Given the description of an element on the screen output the (x, y) to click on. 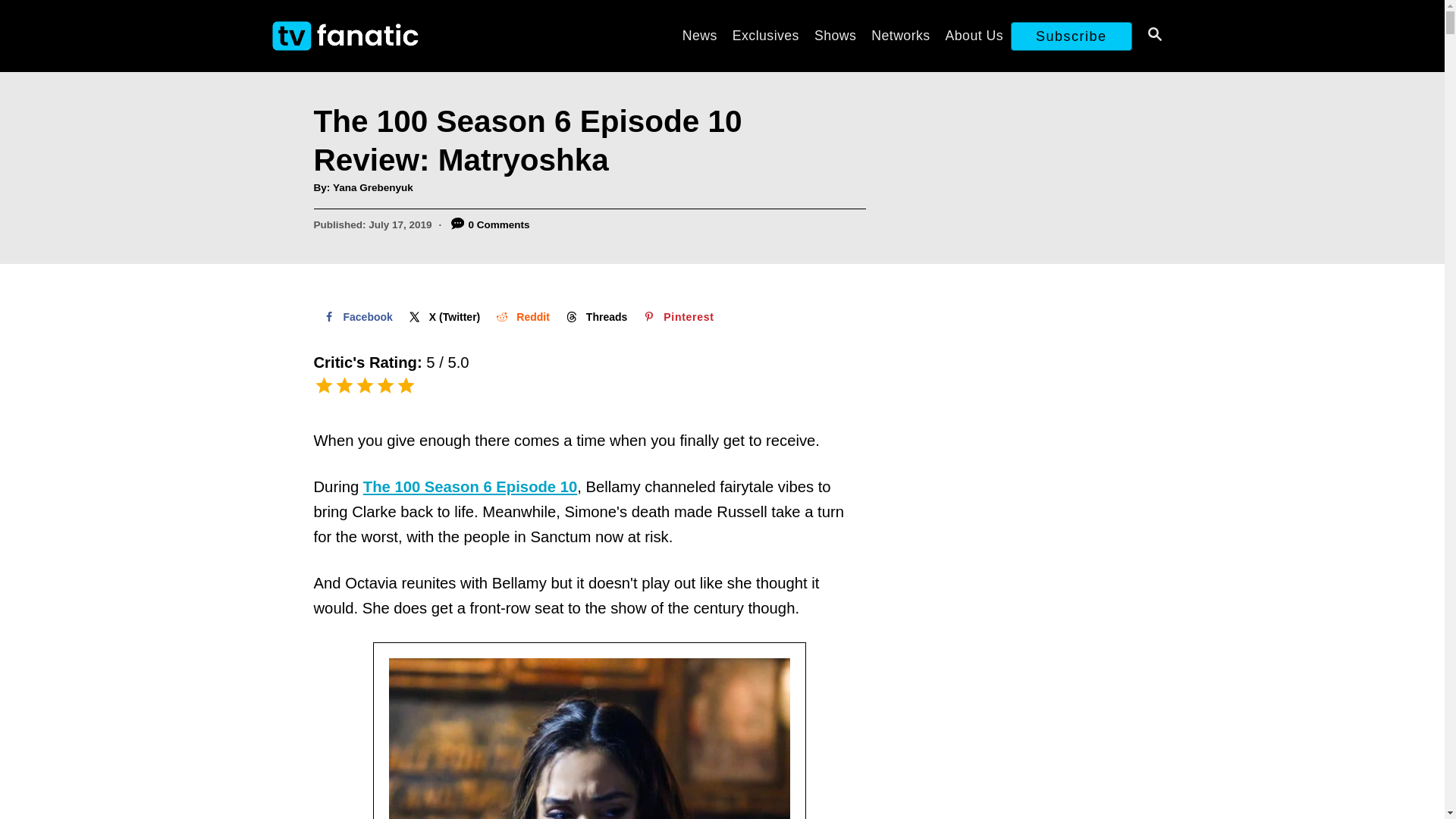
Networks (900, 35)
News (700, 35)
Save to Pinterest (676, 317)
SEARCH (1153, 35)
Share on X (442, 317)
TV Fanatic (403, 36)
Share on Threads (594, 317)
Share on Facebook (356, 317)
Shows (834, 35)
Share on Reddit (521, 317)
Exclusives (765, 35)
